Given the description of an element on the screen output the (x, y) to click on. 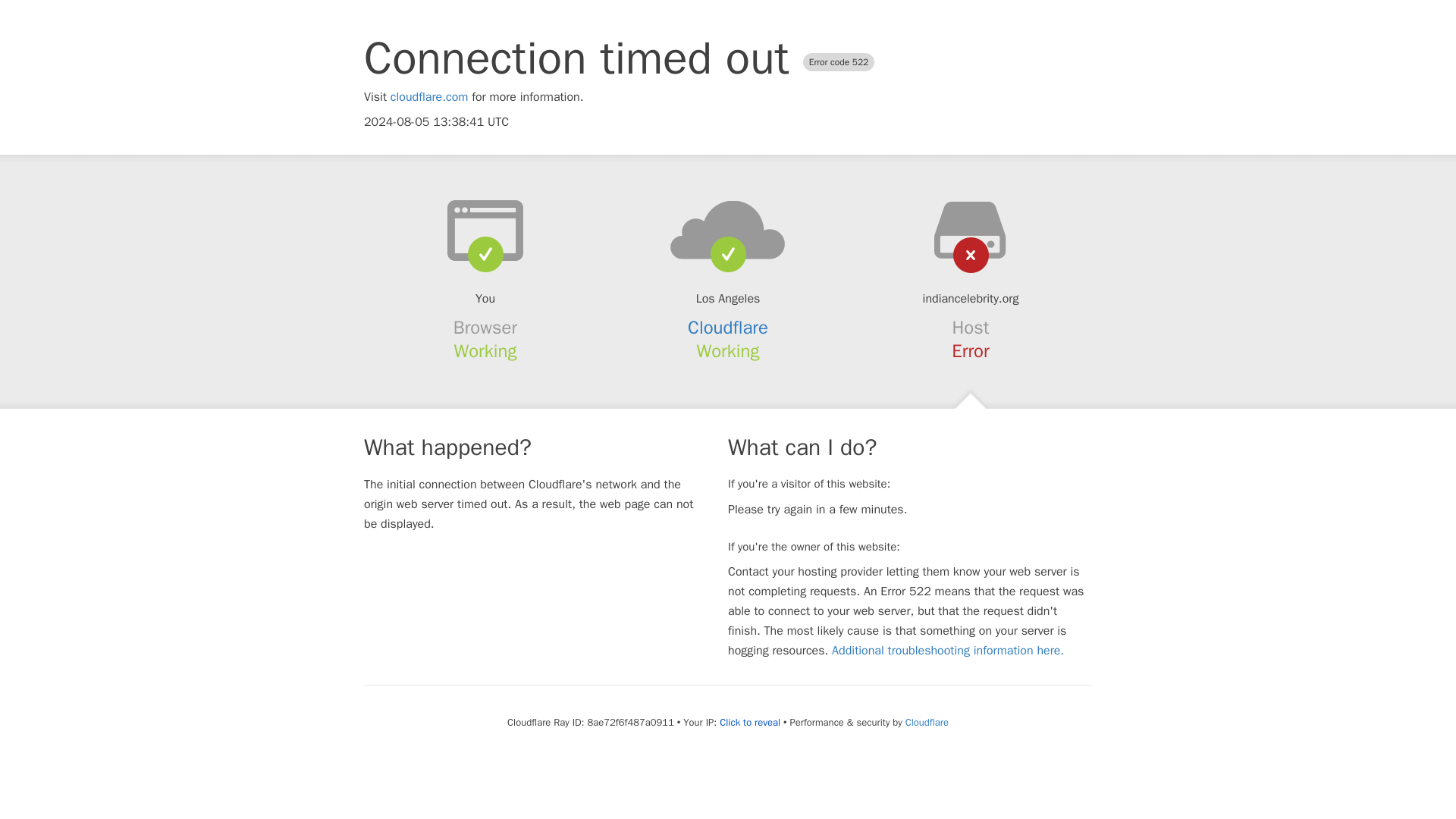
Cloudflare (927, 721)
Cloudflare (727, 327)
cloudflare.com (429, 96)
Click to reveal (749, 722)
Additional troubleshooting information here. (947, 650)
